Given the description of an element on the screen output the (x, y) to click on. 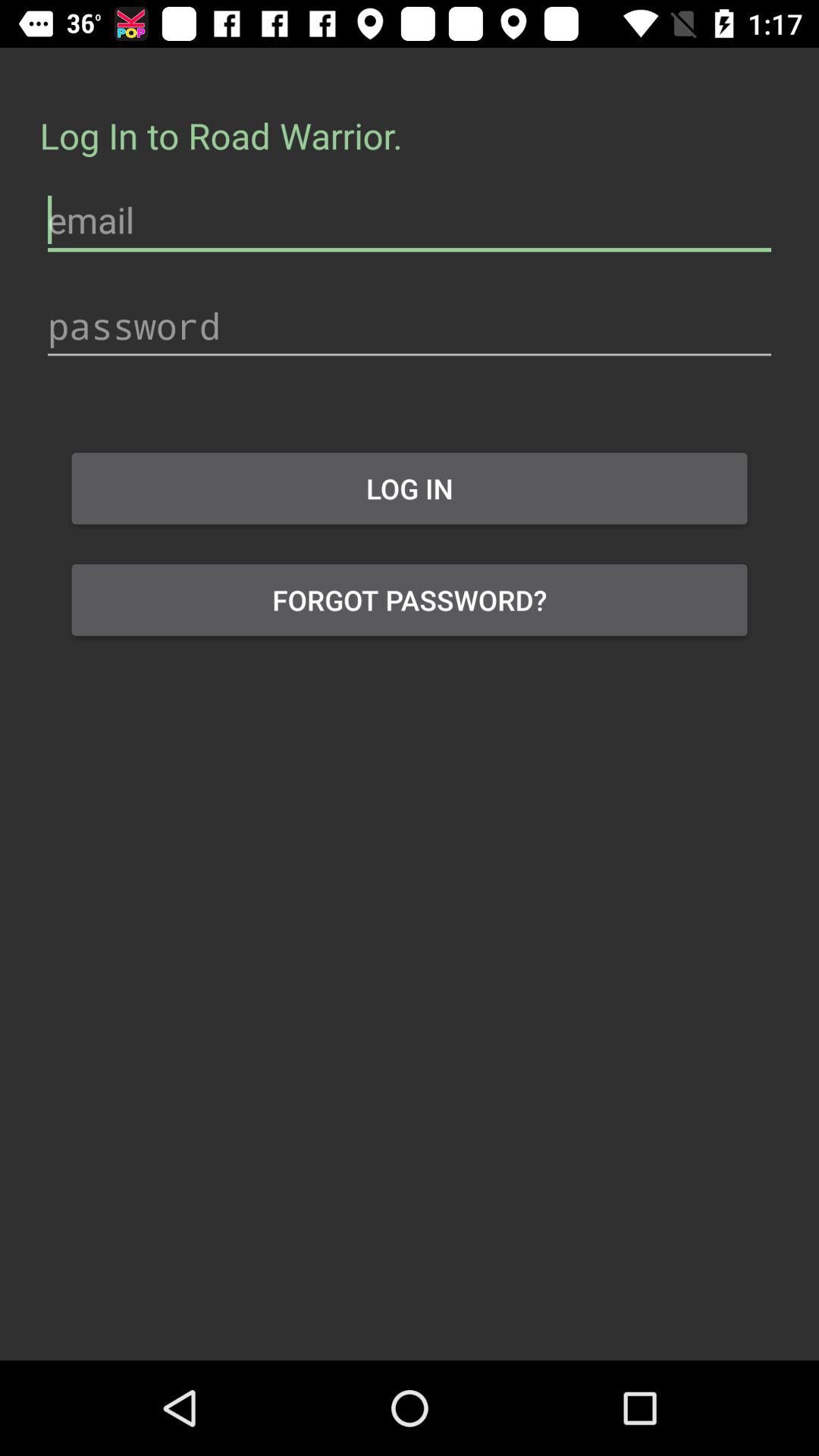
click item below the log in (409, 599)
